Given the description of an element on the screen output the (x, y) to click on. 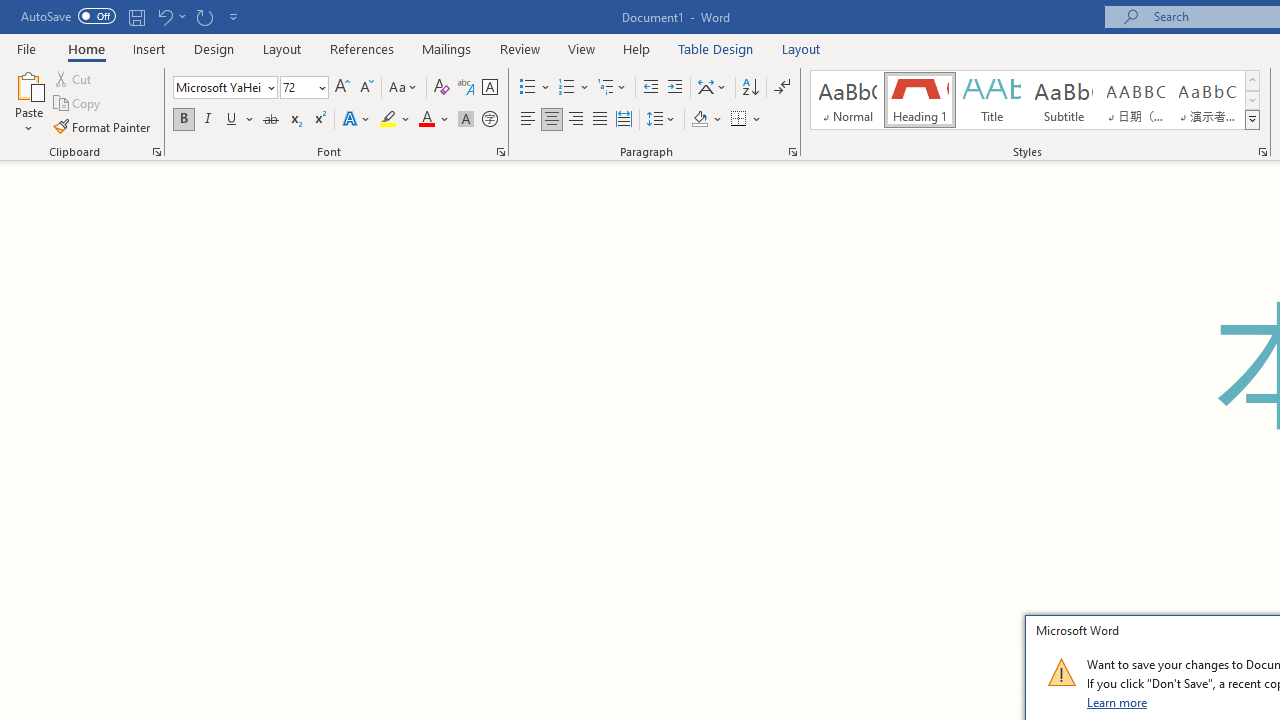
Font Color Red (426, 119)
